Given the description of an element on the screen output the (x, y) to click on. 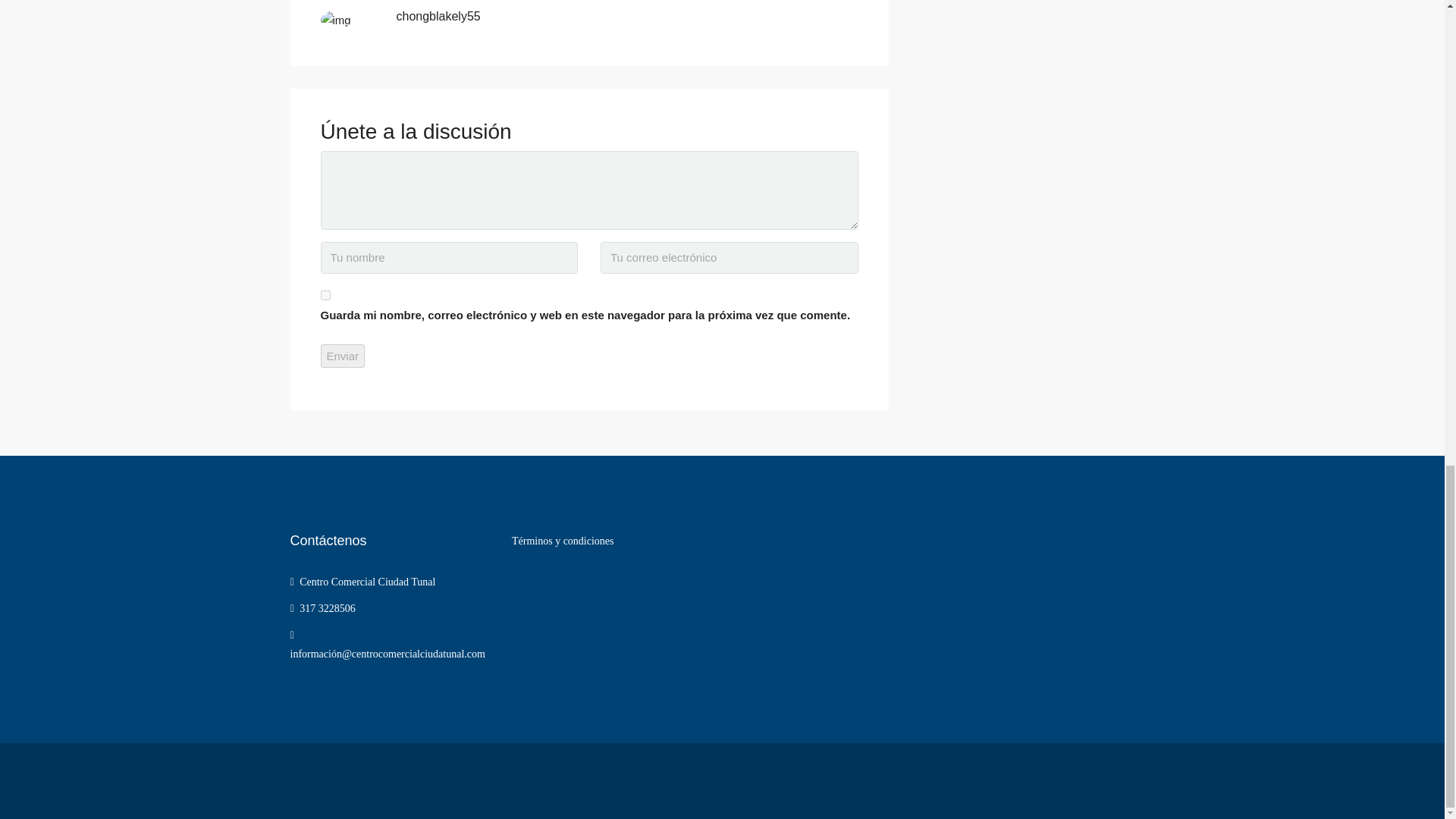
Enviar (342, 355)
Enviar (342, 355)
yes (325, 295)
